Given the description of an element on the screen output the (x, y) to click on. 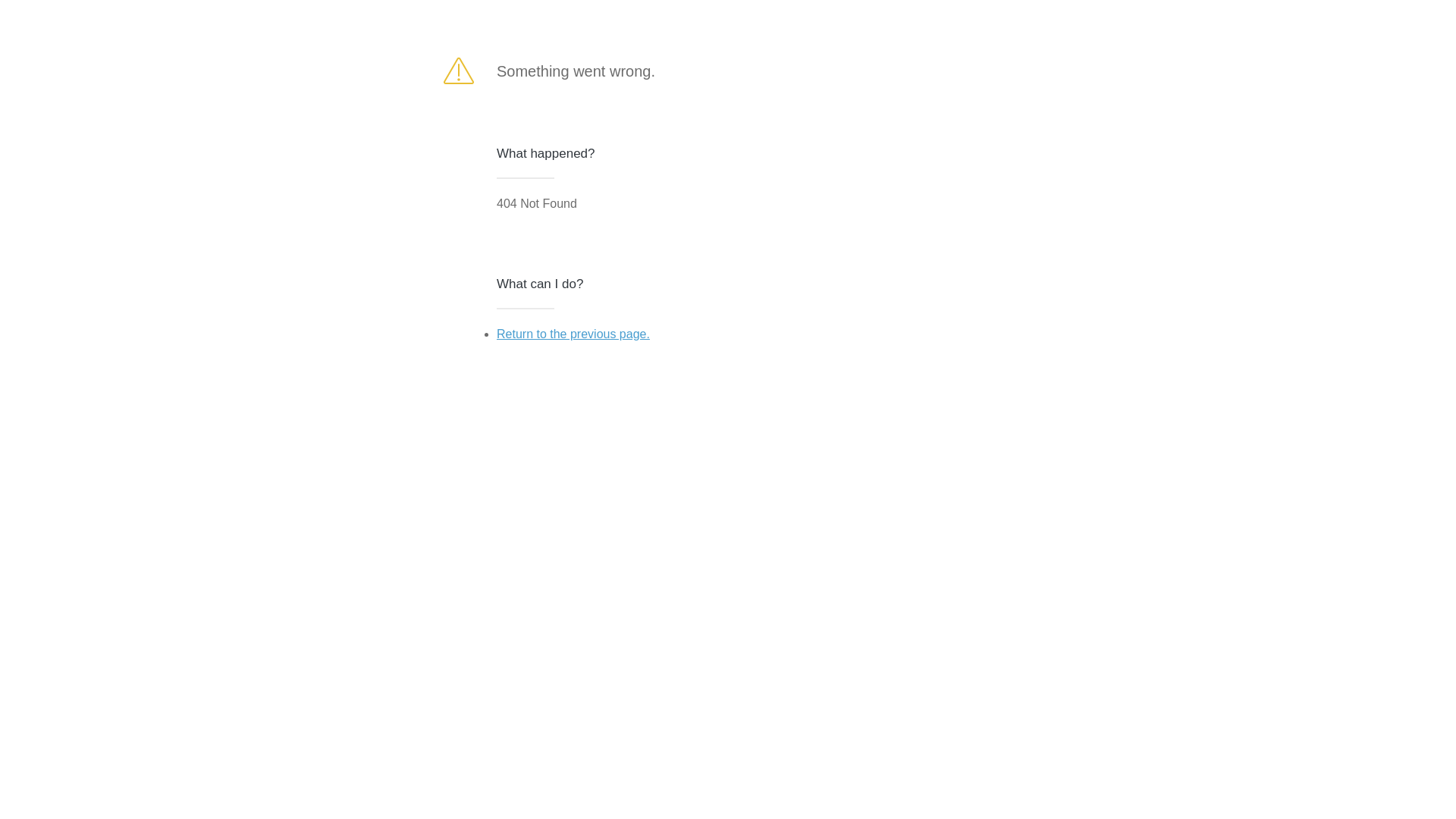
Return to the previous page. Element type: text (572, 333)
